Given the description of an element on the screen output the (x, y) to click on. 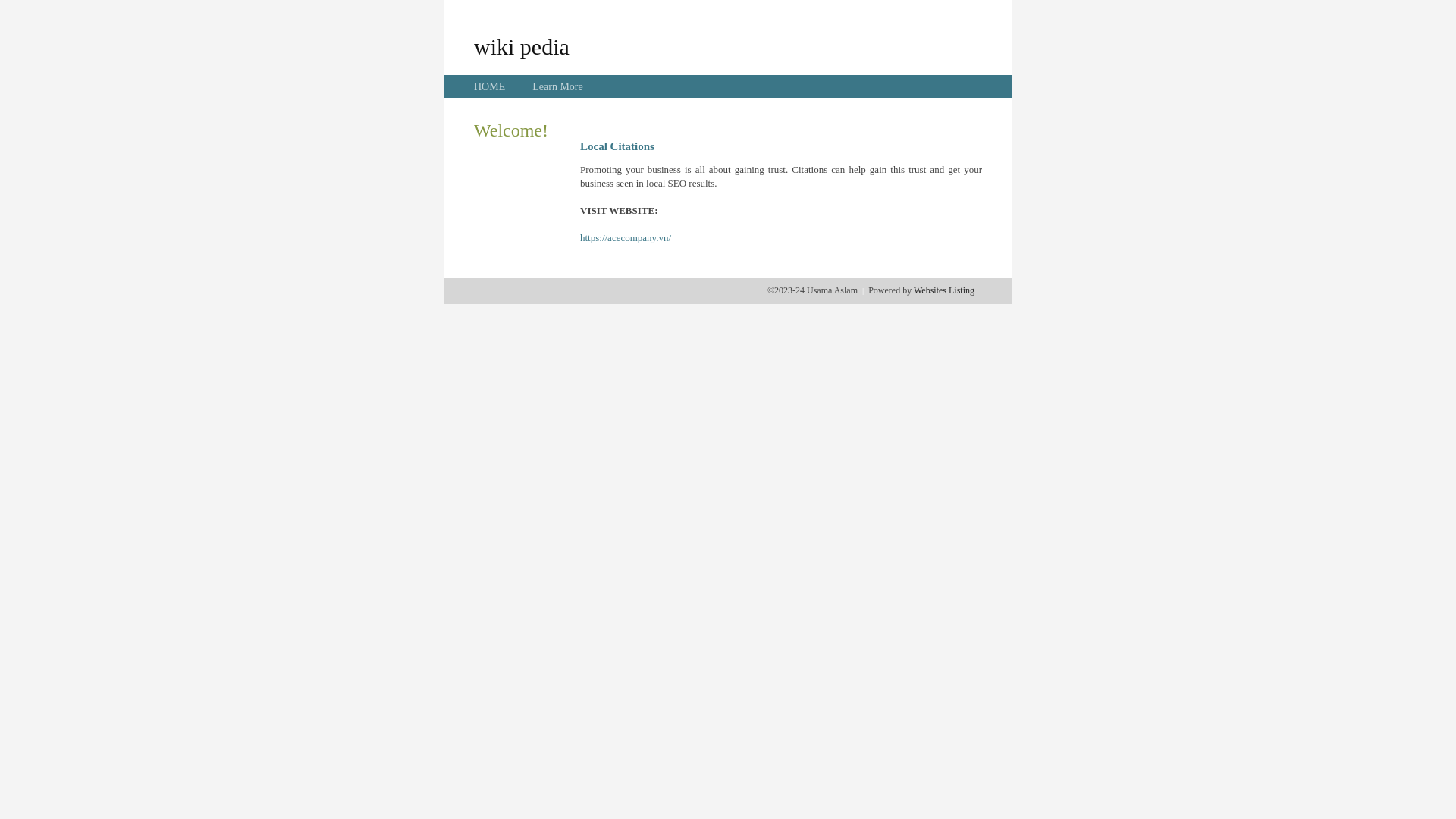
wiki pedia Element type: text (521, 46)
https://acecompany.vn/ Element type: text (625, 237)
Learn More Element type: text (557, 86)
HOME Element type: text (489, 86)
Websites Listing Element type: text (943, 290)
